Given the description of an element on the screen output the (x, y) to click on. 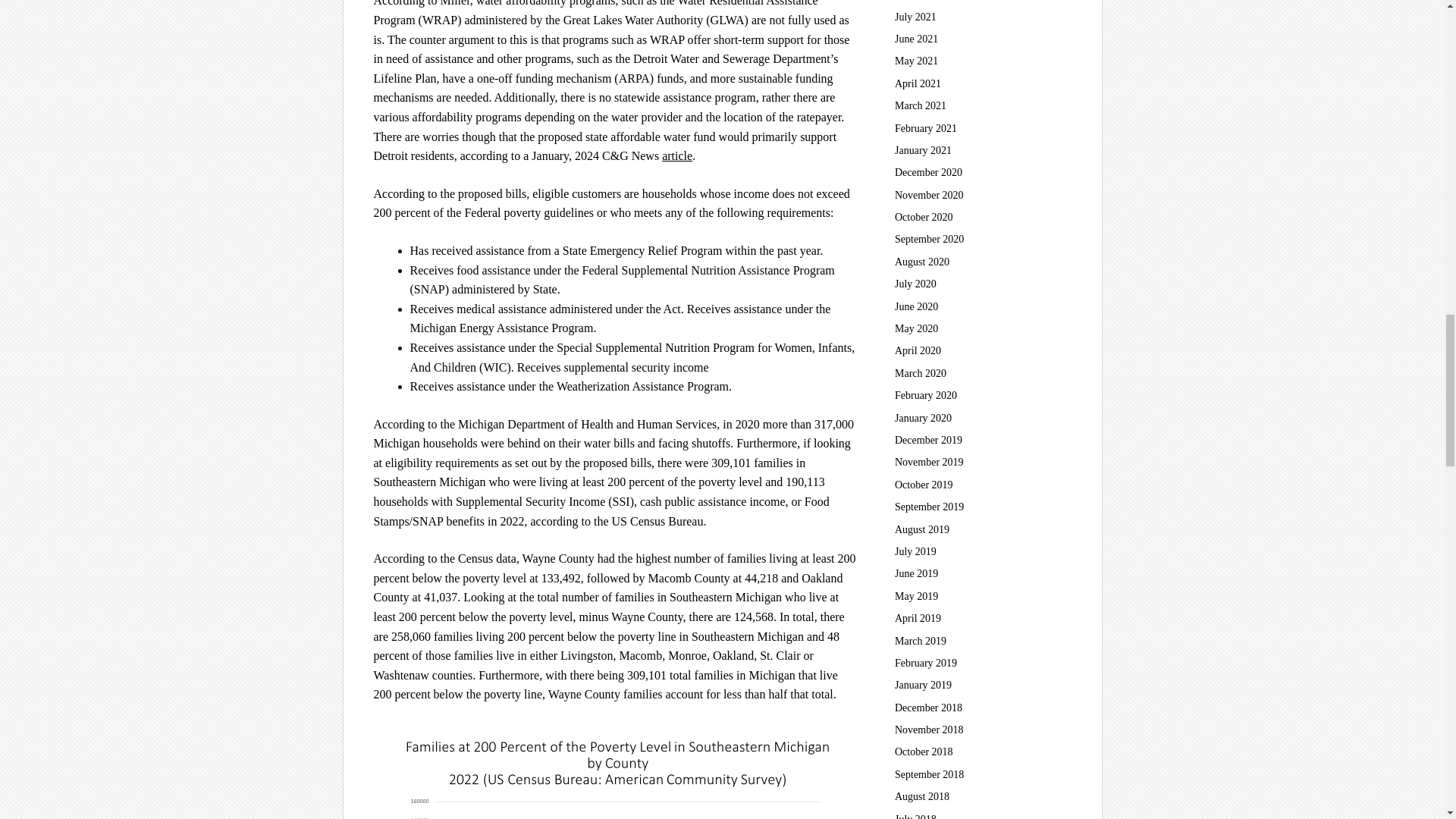
article (677, 155)
